Given the description of an element on the screen output the (x, y) to click on. 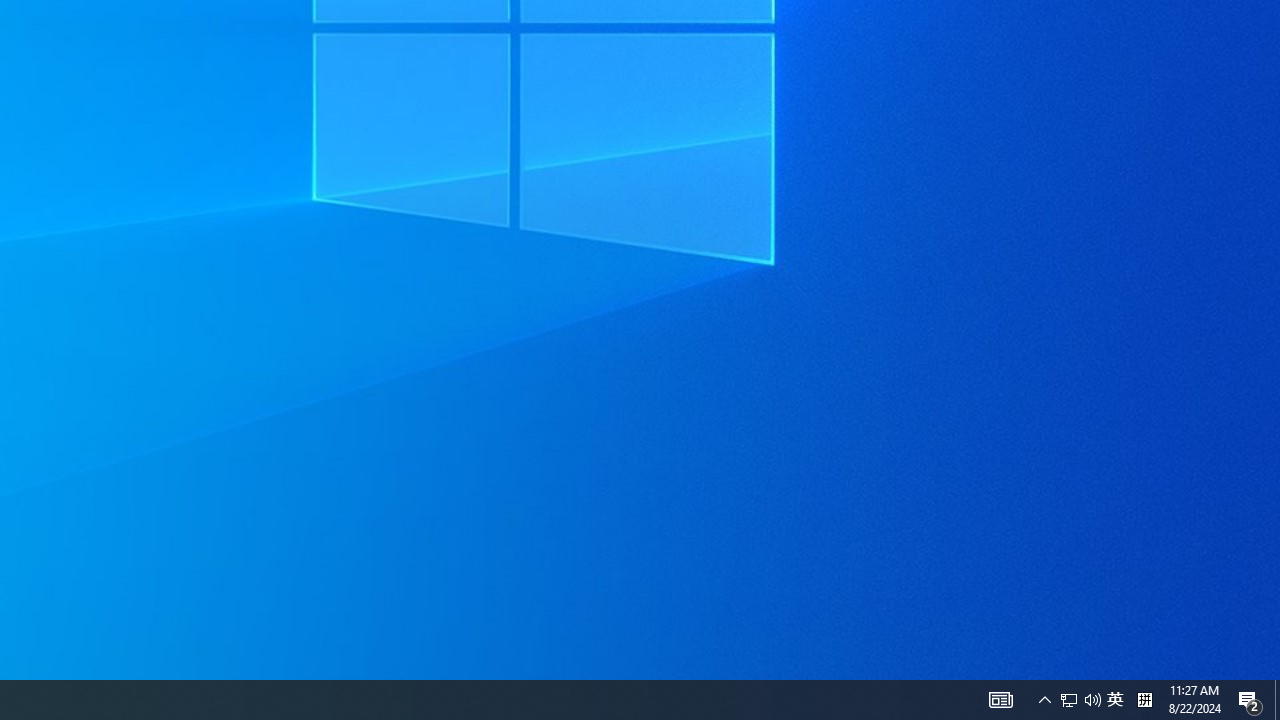
User Promoted Notification Area (1080, 699)
Q2790: 100% (1092, 699)
Notification Chevron (1044, 699)
Action Center, 2 new notifications (1250, 699)
Show desktop (1277, 699)
Tray Input Indicator - Chinese (Simplified, China) (1144, 699)
AutomationID: 4105 (1000, 699)
